Given the description of an element on the screen output the (x, y) to click on. 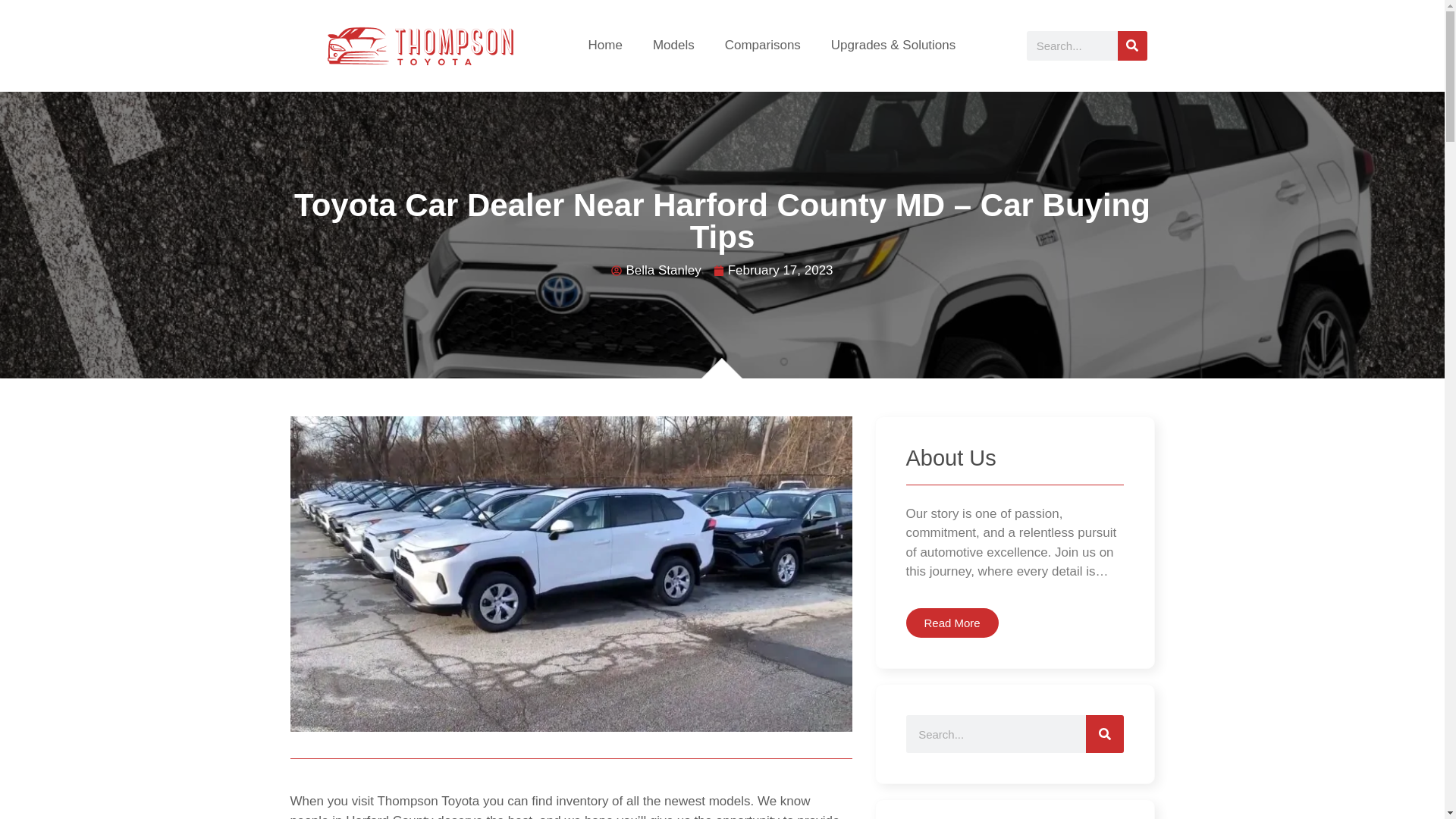
Comparisons (762, 45)
Bella Stanley (655, 270)
Models (673, 45)
February 17, 2023 (772, 270)
Home (605, 45)
Read More (951, 623)
